Given the description of an element on the screen output the (x, y) to click on. 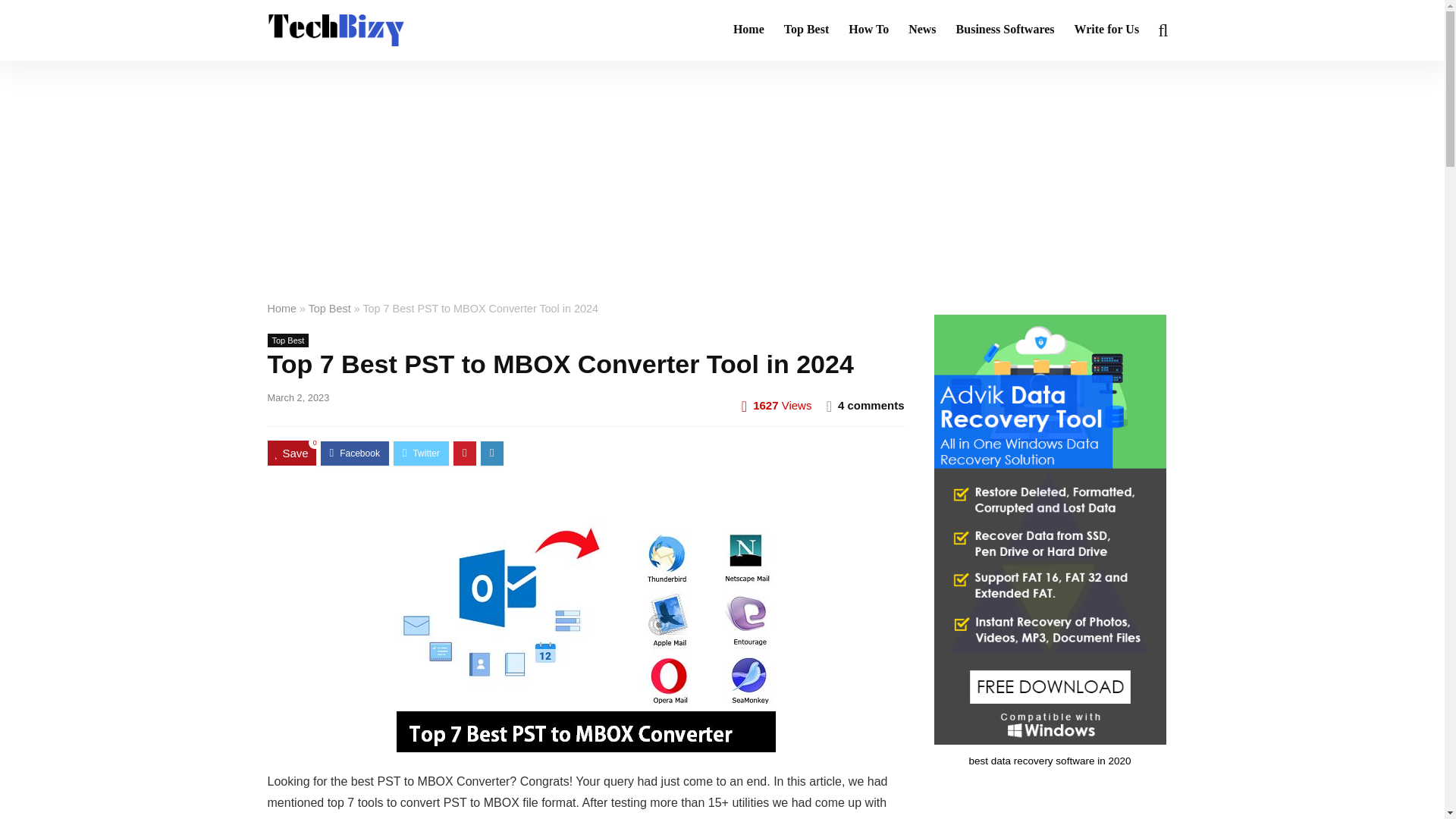
Top Best (287, 340)
Home (280, 308)
View all posts in Top Best (287, 340)
Business Softwares (1005, 30)
Top Best (806, 30)
Top Best (329, 308)
Home (748, 30)
Write for Us (1107, 30)
News (921, 30)
4 comments (871, 404)
How To (868, 30)
